Given the description of an element on the screen output the (x, y) to click on. 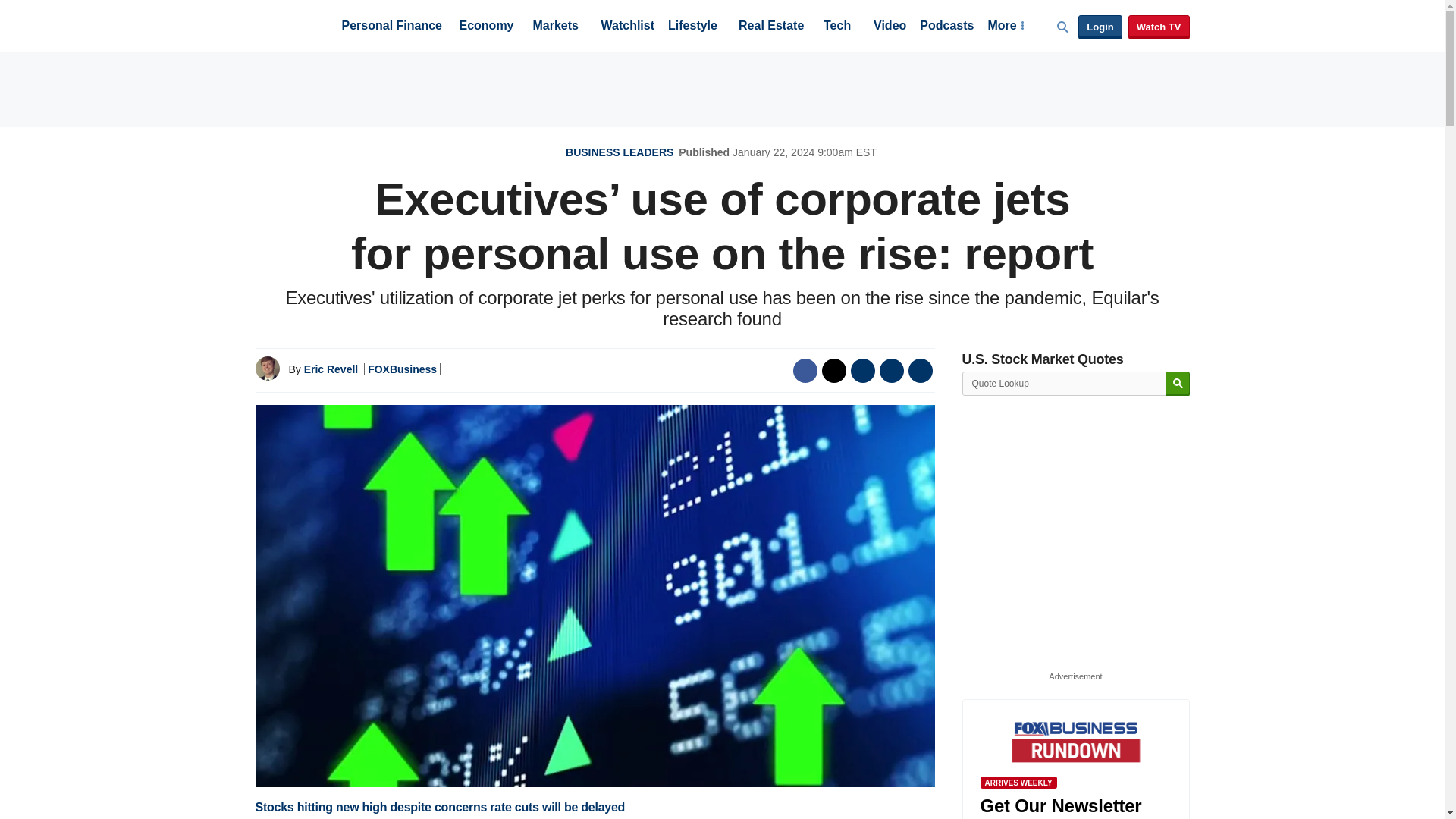
Tech (837, 27)
Lifestyle (692, 27)
Search (1176, 383)
Search (1176, 383)
Video (889, 27)
Fox Business (290, 24)
Economy (486, 27)
Real Estate (770, 27)
Markets (555, 27)
Watchlist (626, 27)
